Given the description of an element on the screen output the (x, y) to click on. 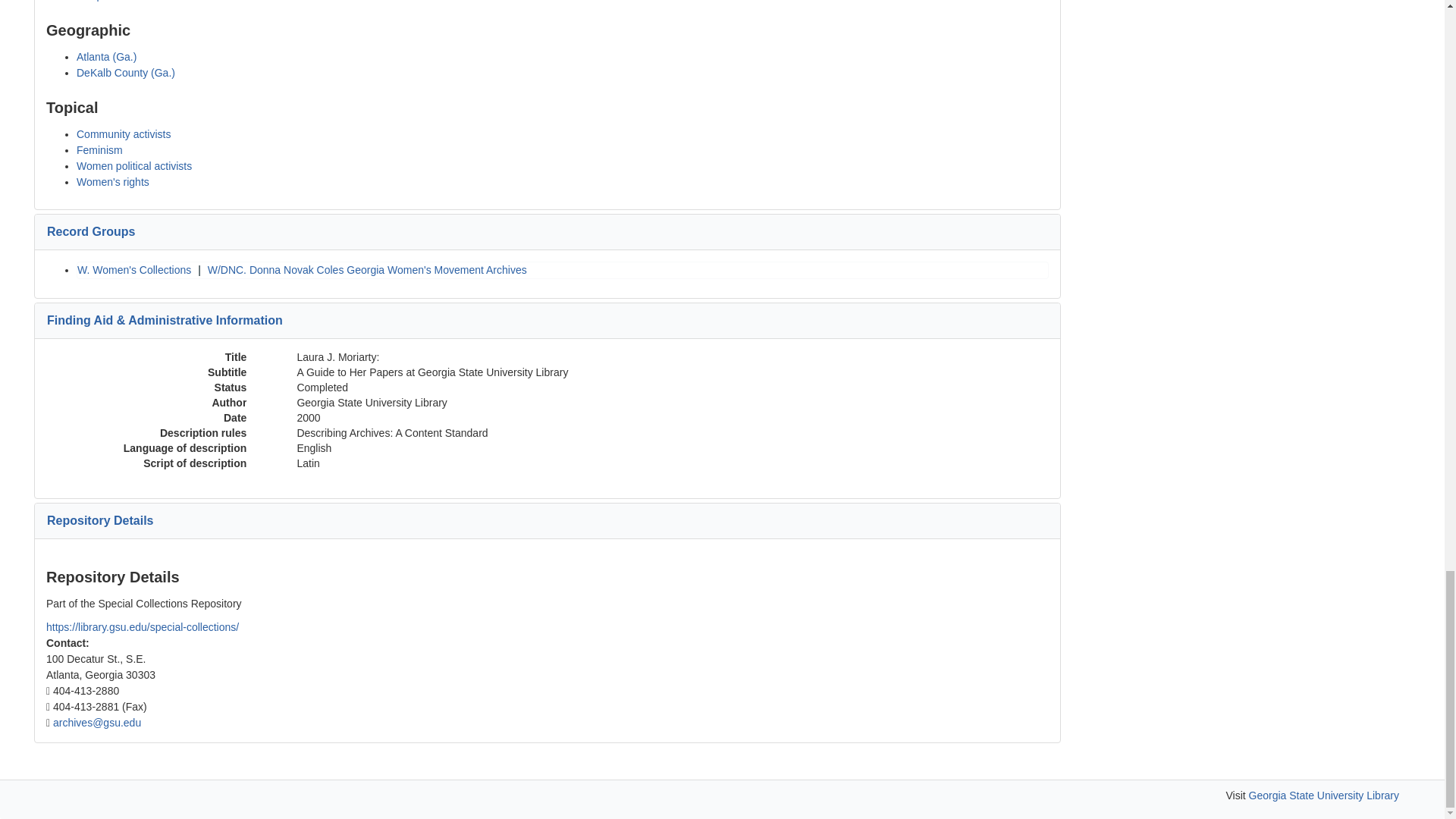
scrapbooks (104, 0)
Community activists (123, 133)
Women's rights (113, 182)
W. Women's Collections (133, 269)
Feminism (99, 150)
Send email (96, 722)
Record Groups (90, 231)
Women political activists (134, 165)
